Given the description of an element on the screen output the (x, y) to click on. 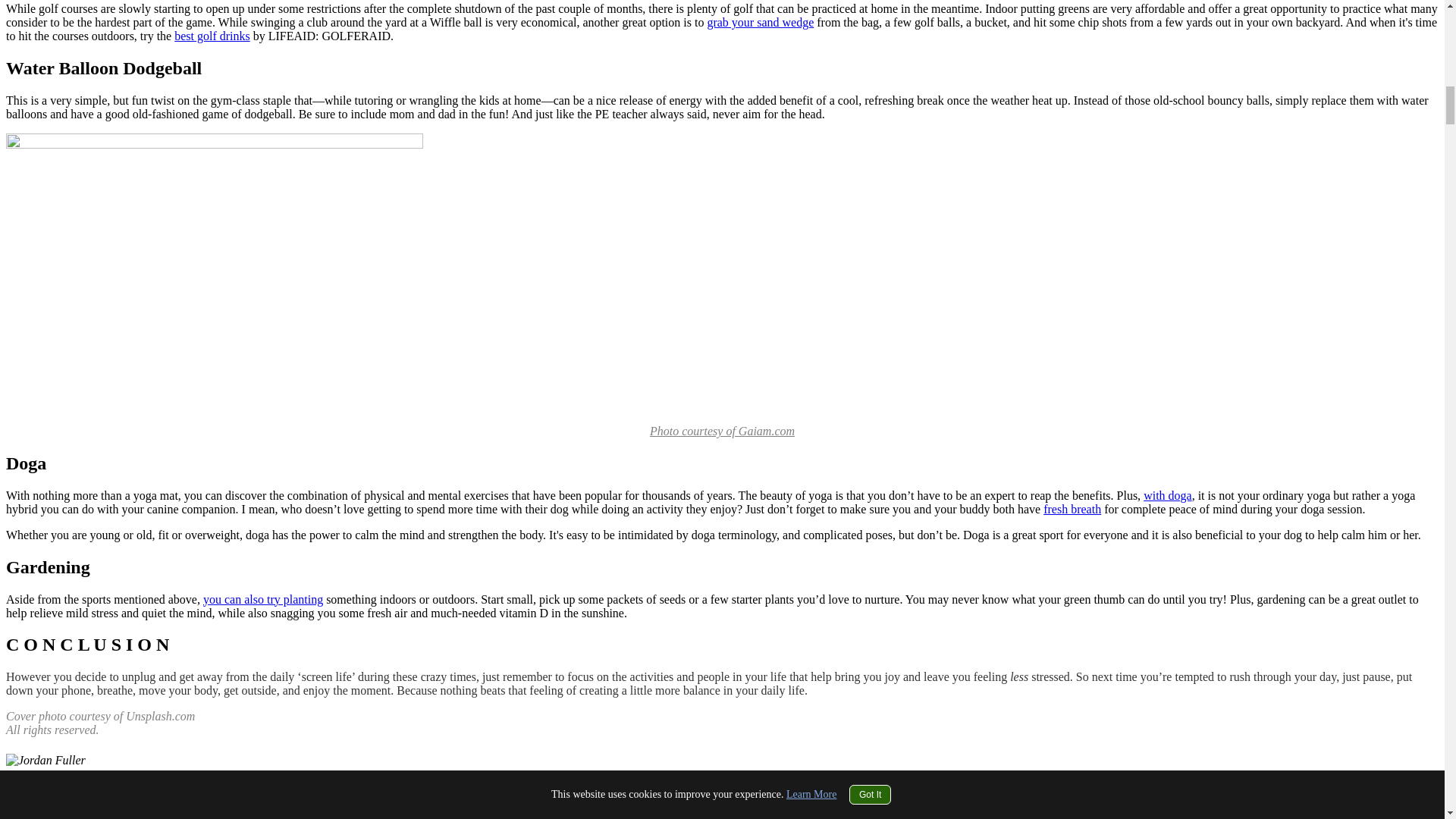
best golf drinks (212, 35)
fresh breath (1071, 508)
with doga (1167, 495)
you can also try planting (263, 599)
Golf Influence (388, 802)
grab your sand wedge (759, 21)
Photo courtesy of Gaiam.com (721, 431)
